Given the description of an element on the screen output the (x, y) to click on. 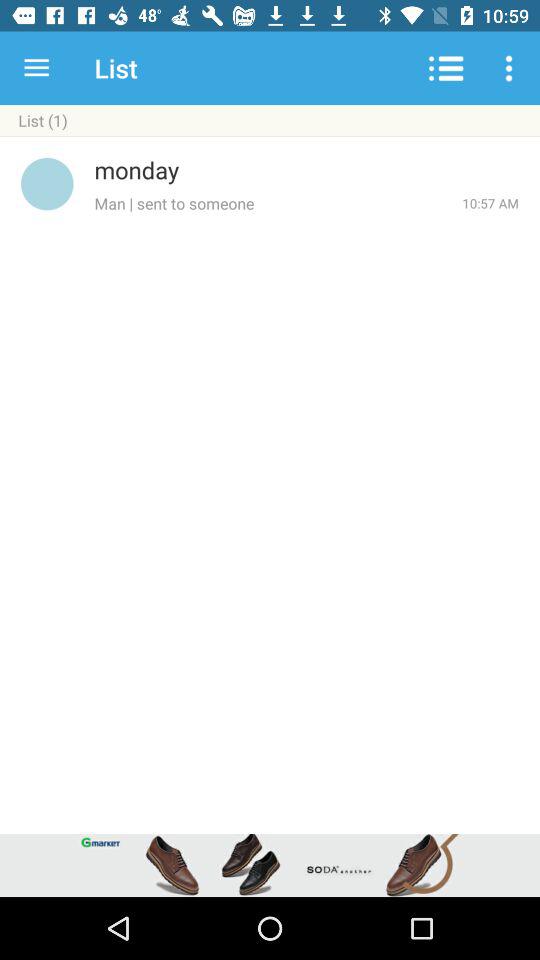
click the monday icon (306, 169)
